Given the description of an element on the screen output the (x, y) to click on. 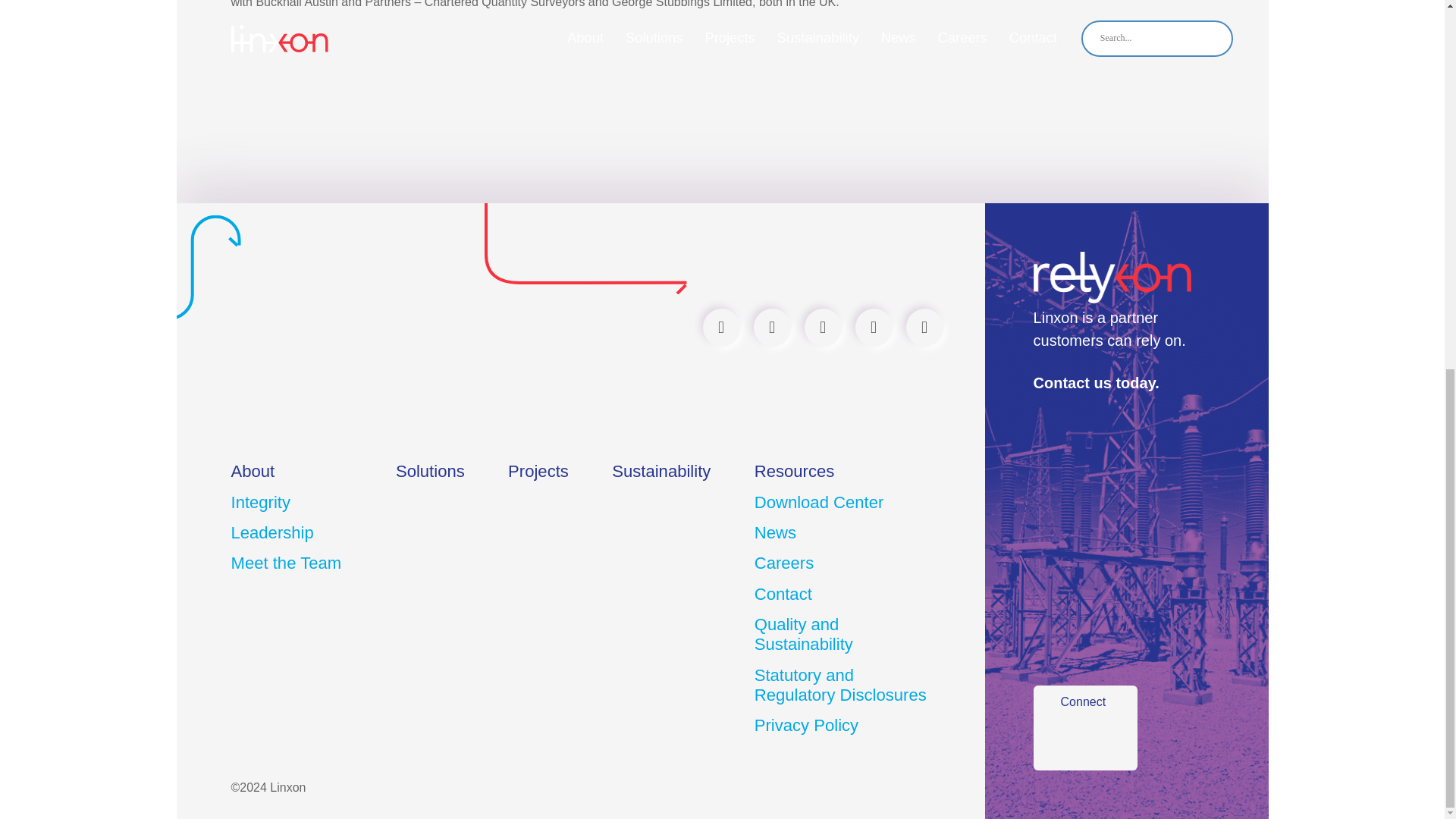
Resources (794, 473)
About (252, 473)
Contact (783, 596)
Integrity (259, 504)
Careers (783, 565)
News (775, 535)
Linxon (321, 342)
Solutions (430, 473)
Meet the Team (285, 565)
Leadership (271, 535)
Projects (538, 473)
Download Center (818, 504)
Sustainability (660, 473)
